Given the description of an element on the screen output the (x, y) to click on. 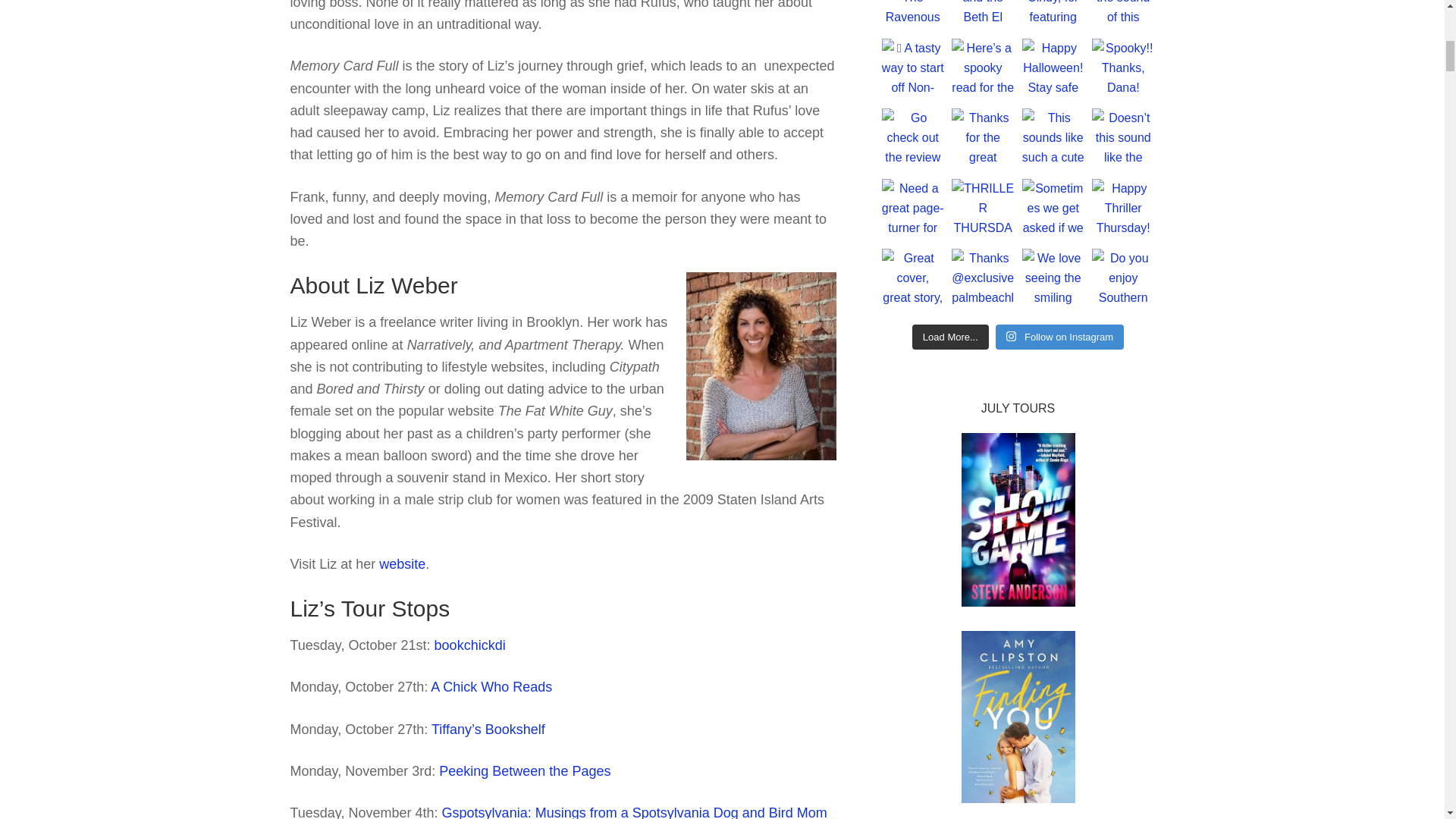
A Chick Who Reads (490, 686)
bookchickdi (469, 645)
Peeking Between the Pages (524, 770)
website (401, 563)
Gspotsylvania: Musings from a Spotsylvania Dog and Bird Mom (634, 812)
